Given the description of an element on the screen output the (x, y) to click on. 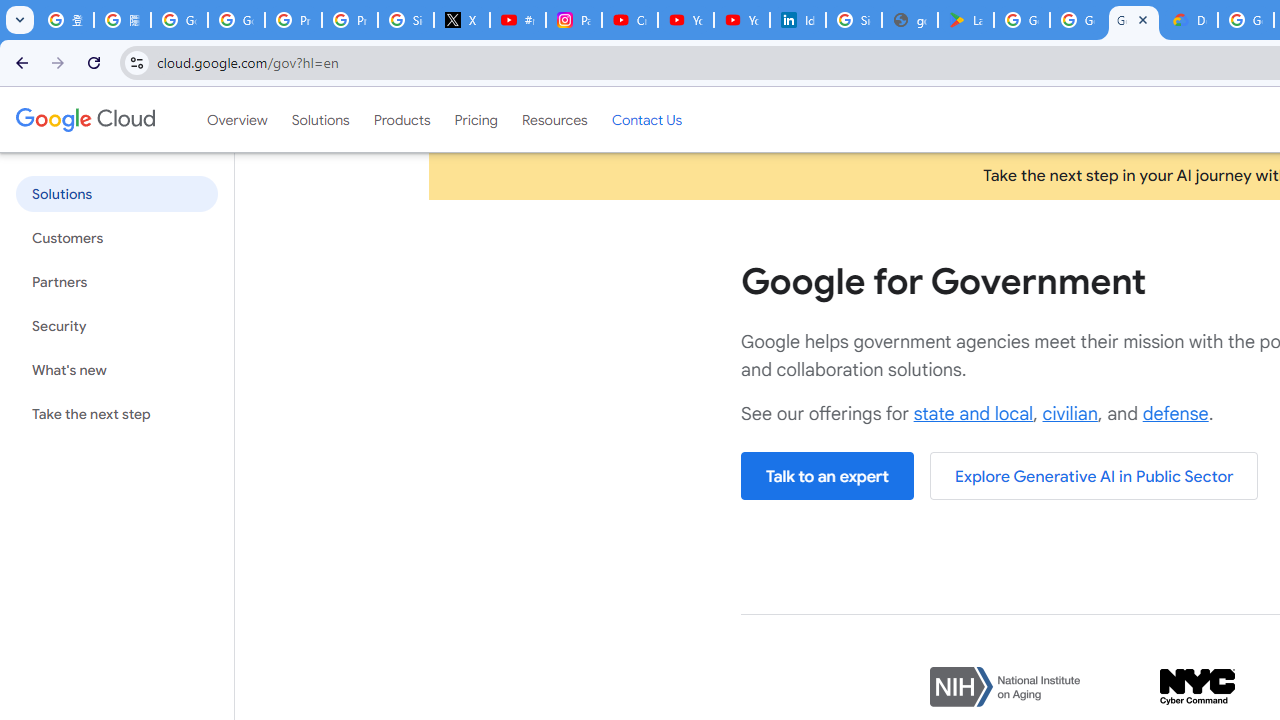
Explore Generative AI in Public Sector (1094, 475)
Security (116, 326)
defense (1175, 413)
Last Shelter: Survival - Apps on Google Play (966, 20)
Sign in - Google Accounts (405, 20)
Pricing (476, 119)
Customers (116, 238)
